Given the description of an element on the screen output the (x, y) to click on. 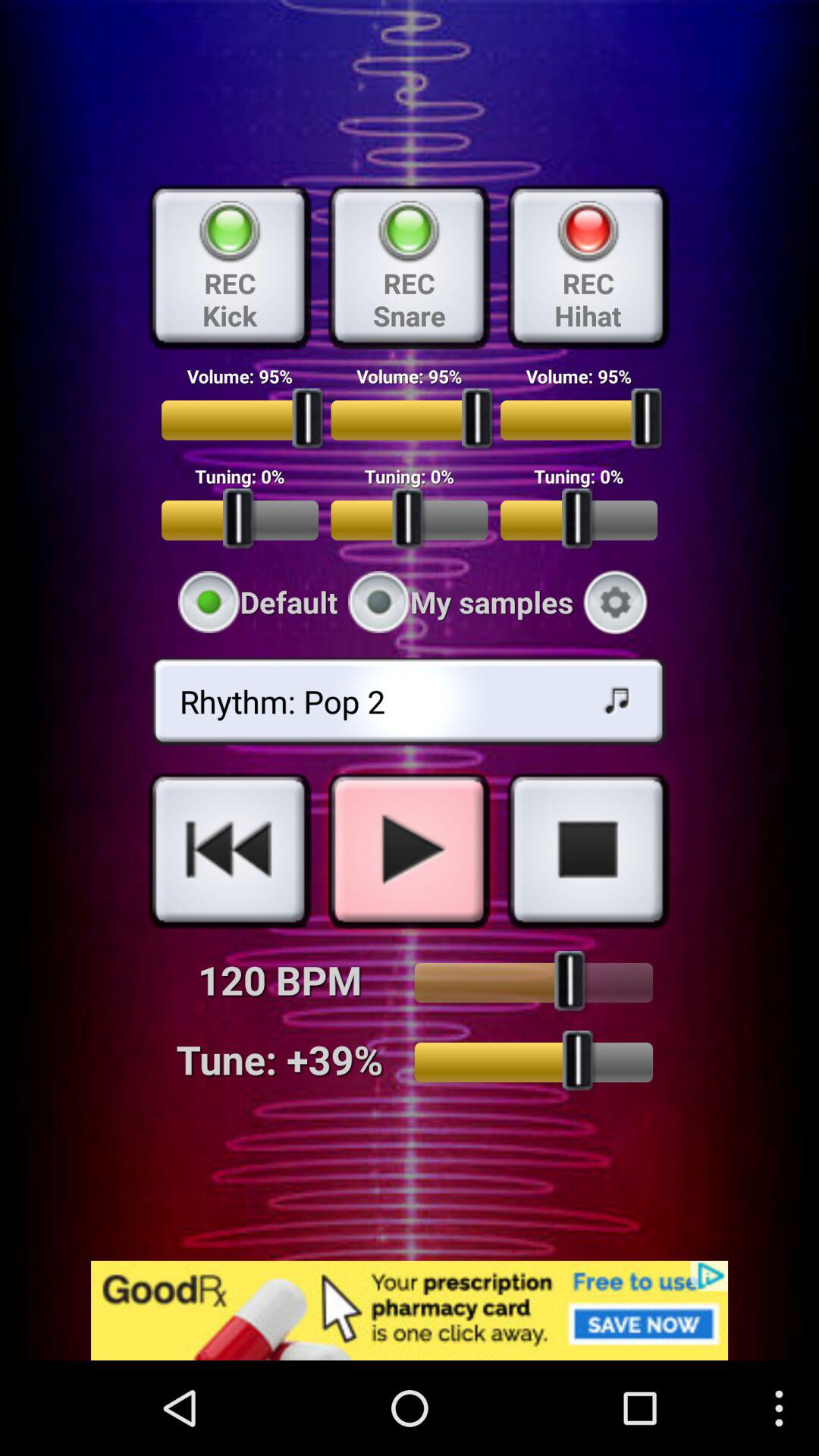
adjust volume (533, 982)
